Given the description of an element on the screen output the (x, y) to click on. 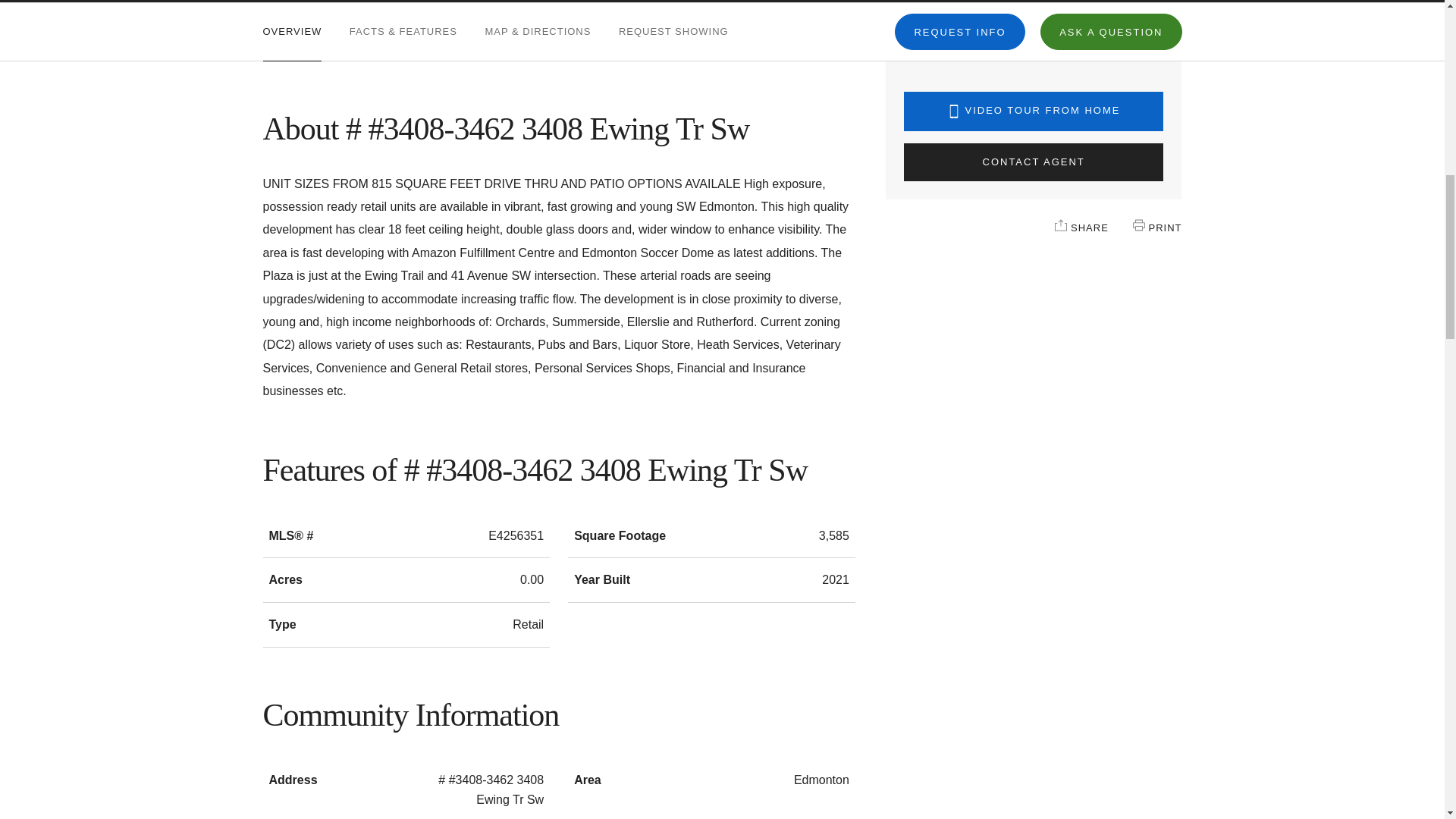
PRINT (1138, 224)
SHARE (1060, 224)
MOBILE ICON (953, 110)
OVERVIEW (291, 31)
